Given the description of an element on the screen output the (x, y) to click on. 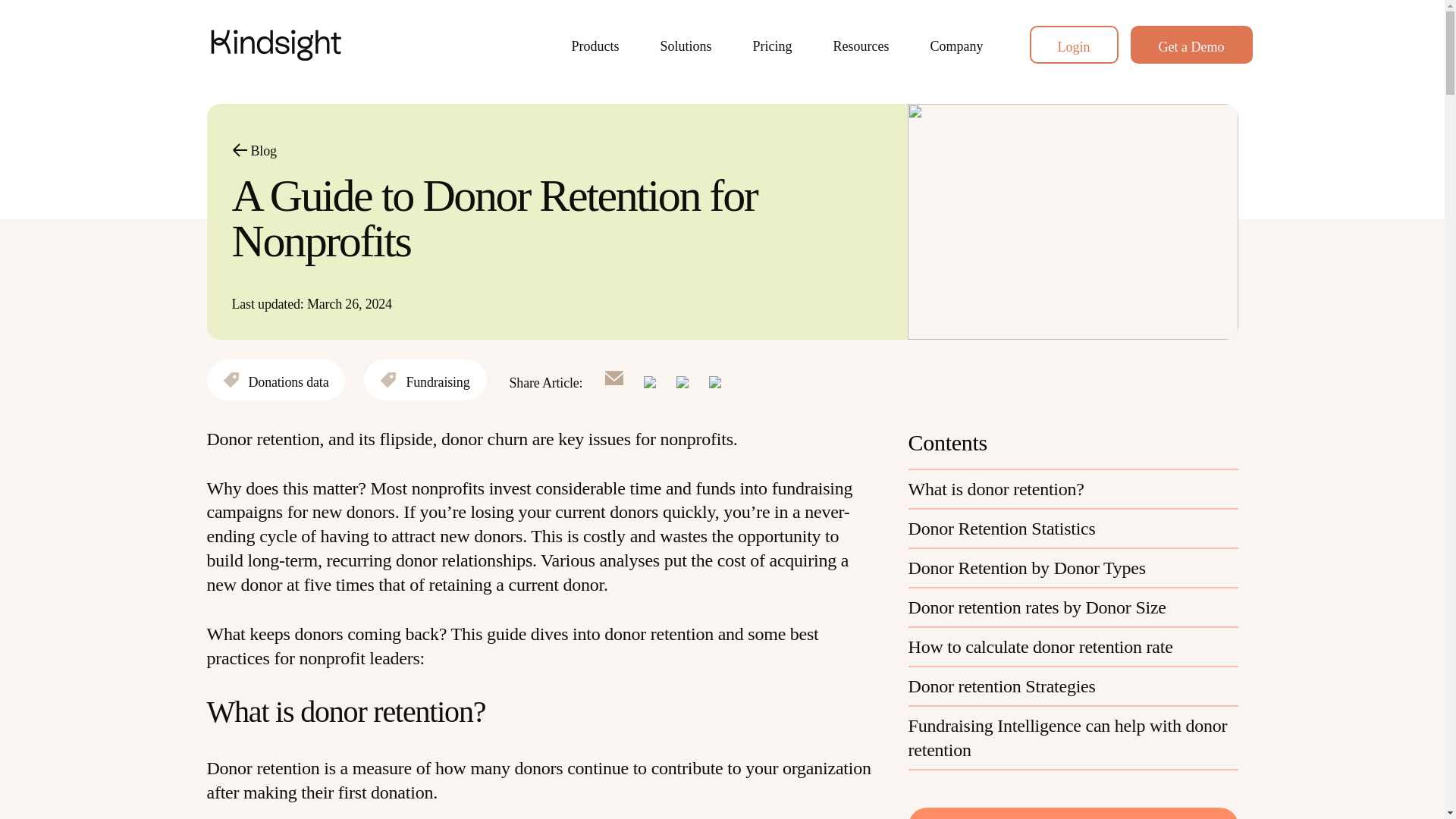
Get a Demo (1191, 44)
Mail (614, 380)
Fundraising (425, 379)
Kindsight (365, 45)
How to calculate donor retention rate (1073, 647)
Login (1073, 44)
Donor Retention by Donor Types (1073, 568)
Company (956, 44)
Donor retention Strategies  (1073, 686)
Twitter (682, 381)
Donations data (275, 379)
Blog (253, 150)
Donations data (275, 379)
What is donor retention? (1073, 488)
Blog (253, 150)
